Given the description of an element on the screen output the (x, y) to click on. 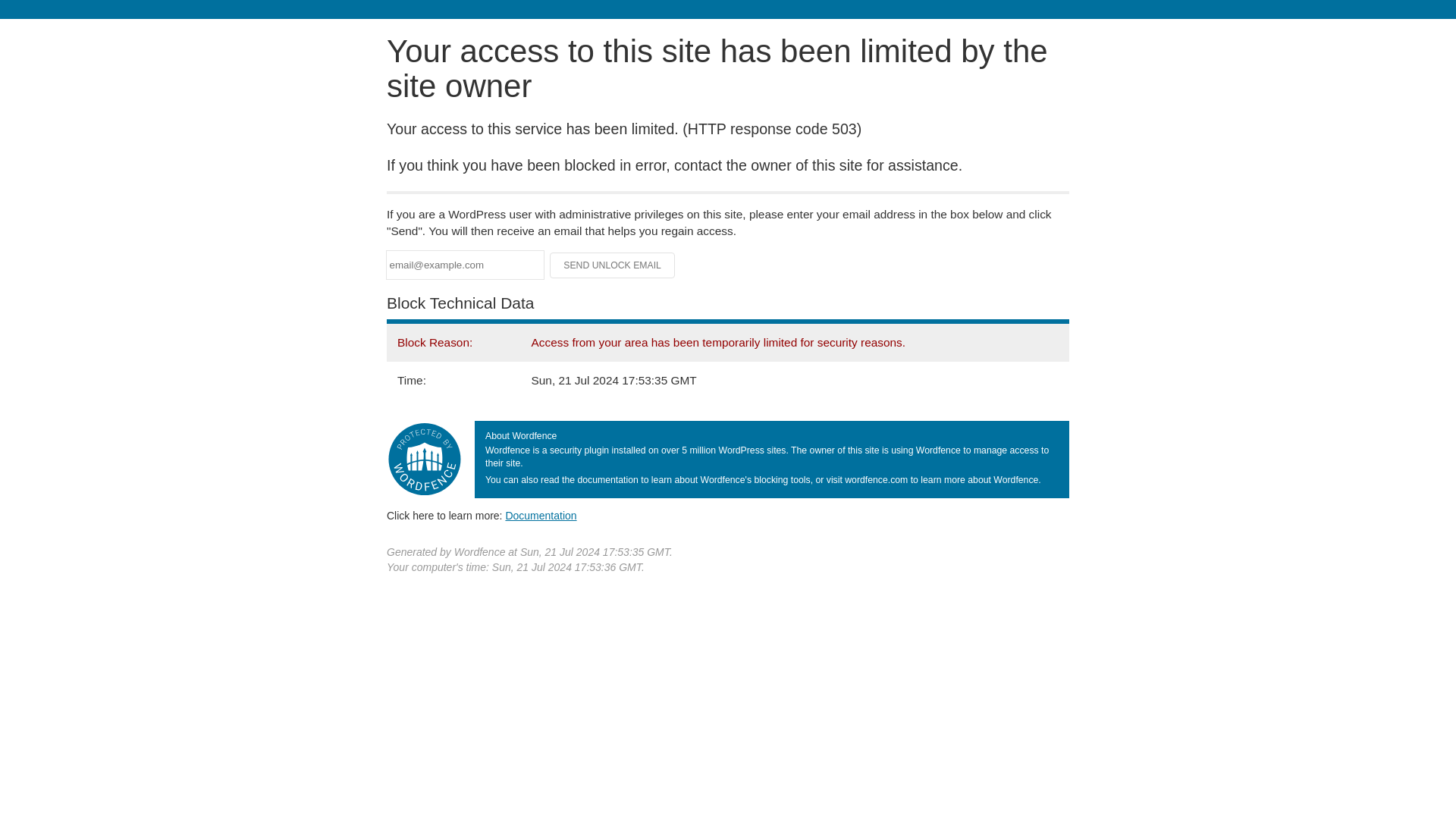
Documentation (540, 515)
Send Unlock Email (612, 265)
Send Unlock Email (612, 265)
